Given the description of an element on the screen output the (x, y) to click on. 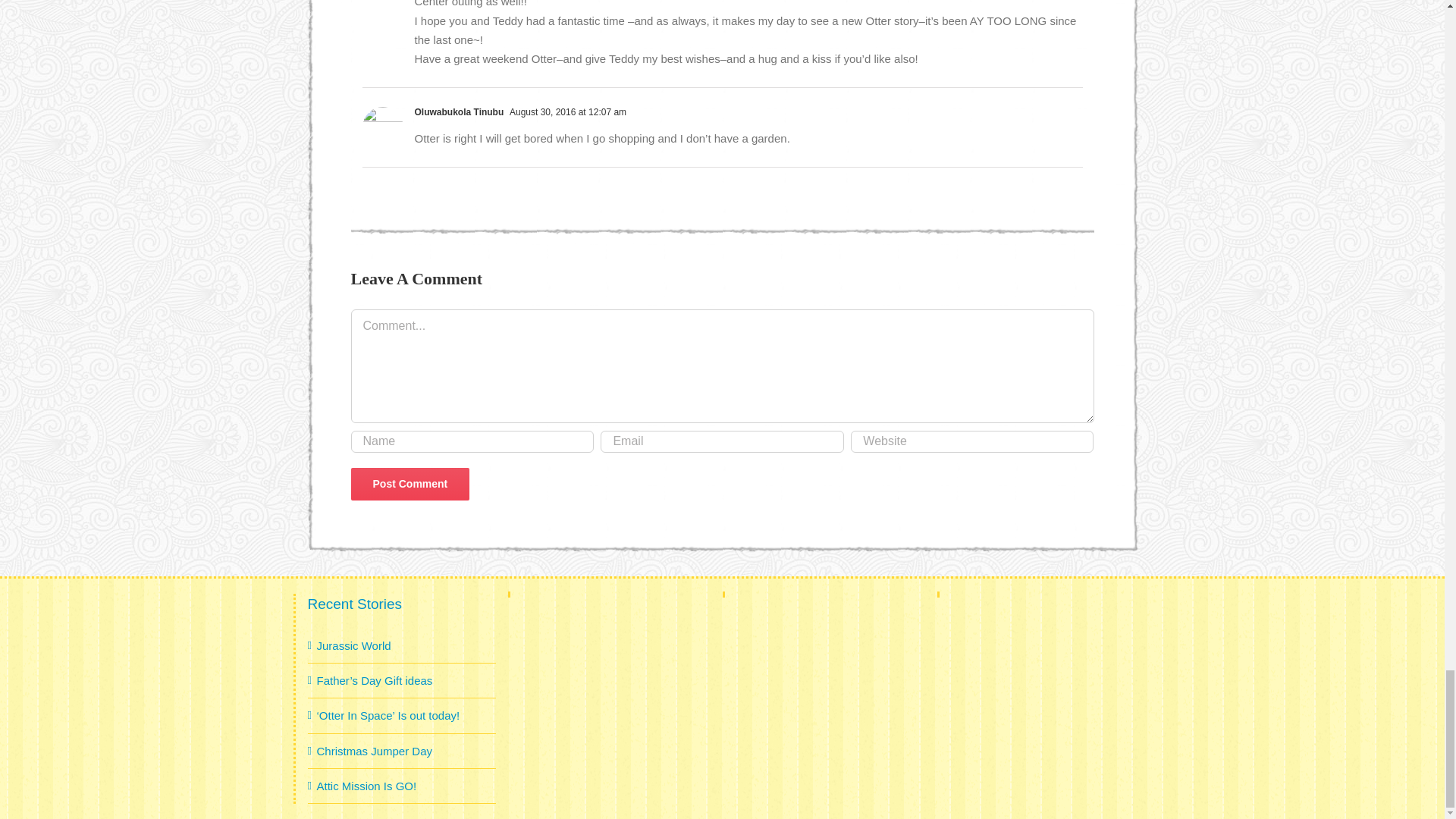
Post Comment (409, 483)
